Given the description of an element on the screen output the (x, y) to click on. 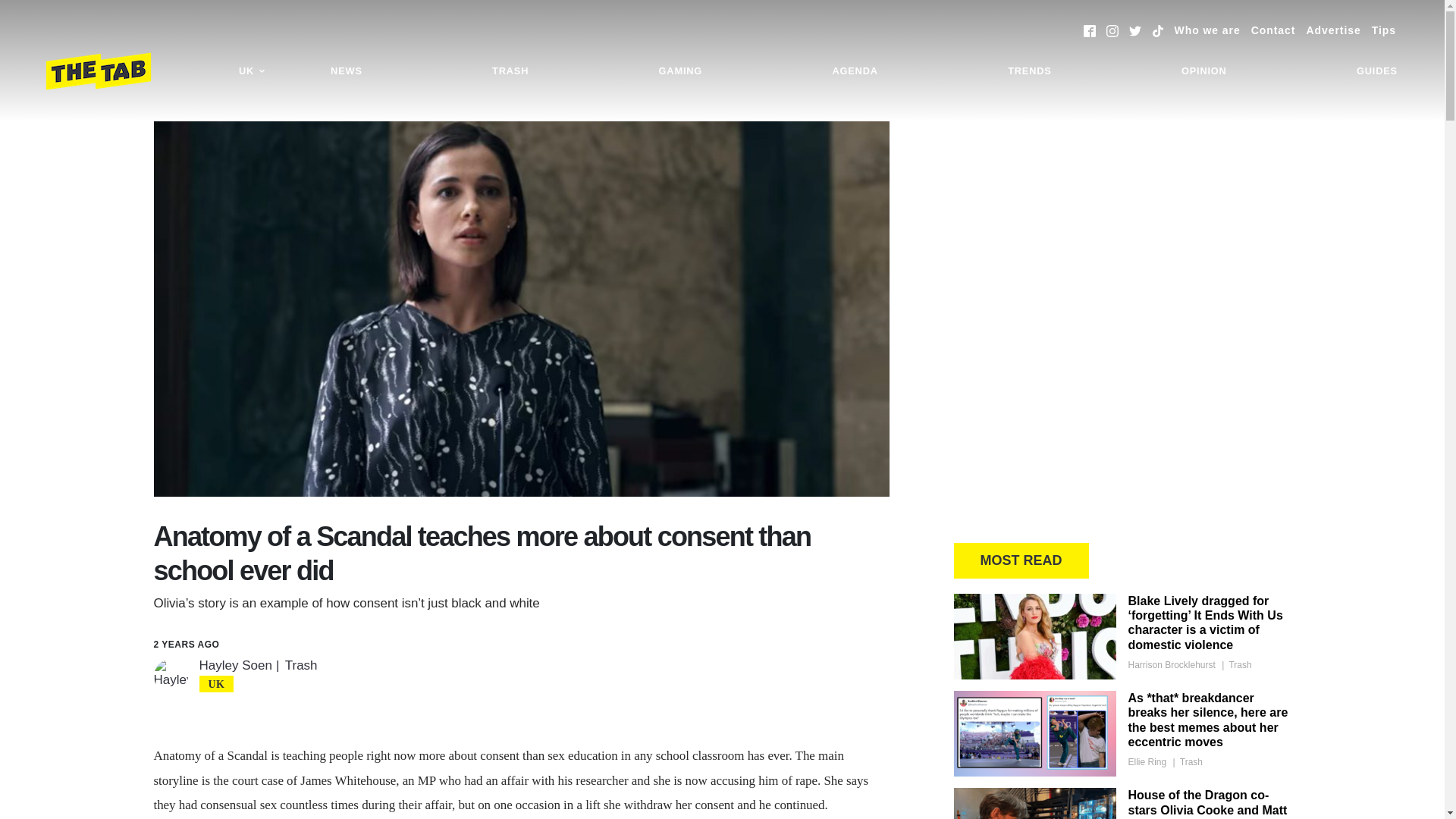
UK (252, 71)
Who we are (1207, 29)
AGENDA (854, 71)
Tips (1383, 29)
Advertise (1332, 29)
OPINION (1204, 71)
NEWS (346, 71)
TRENDS (1028, 71)
Contact (1272, 29)
TRASH (510, 71)
